Given the description of an element on the screen output the (x, y) to click on. 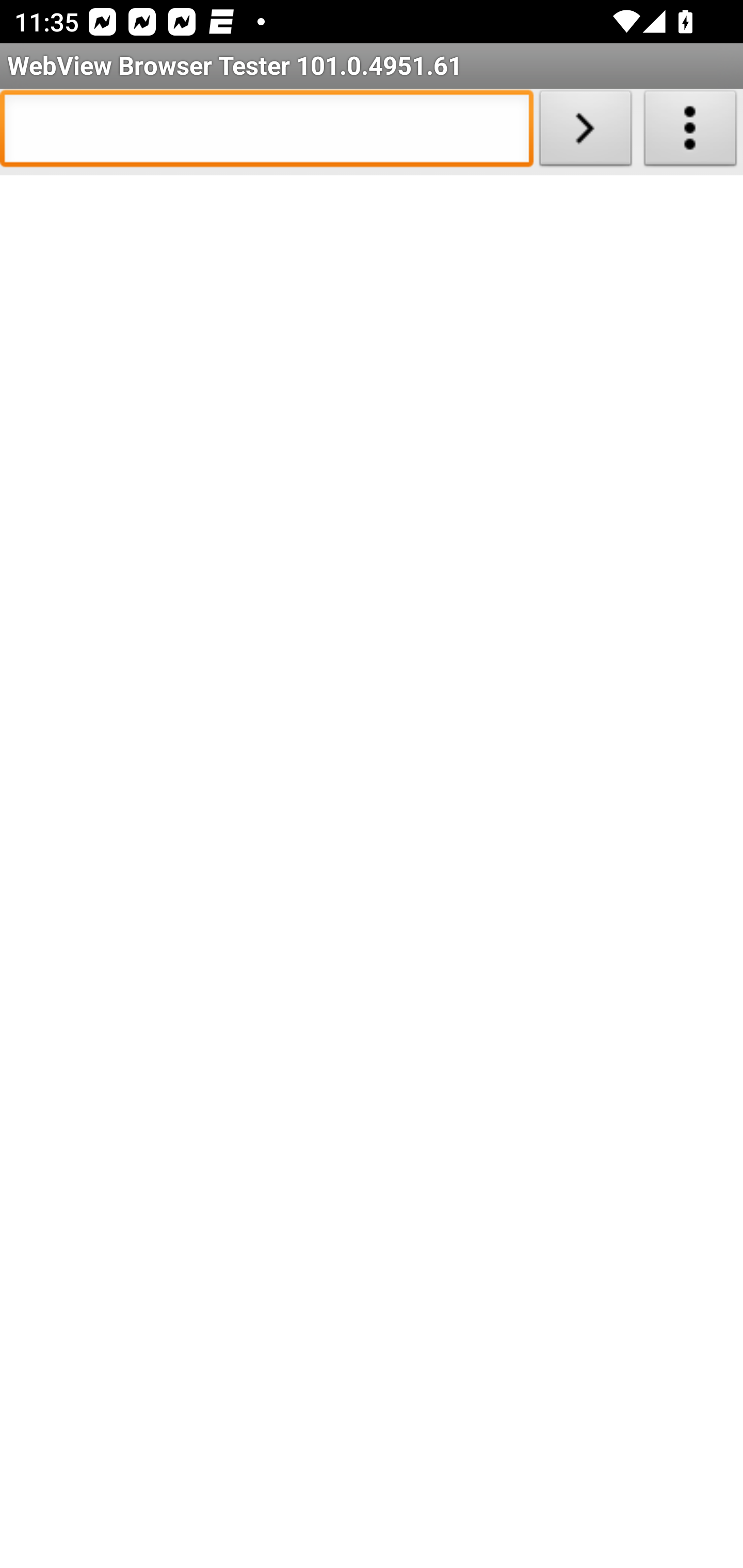
Load URL (585, 132)
About WebView (690, 132)
